Given the description of an element on the screen output the (x, y) to click on. 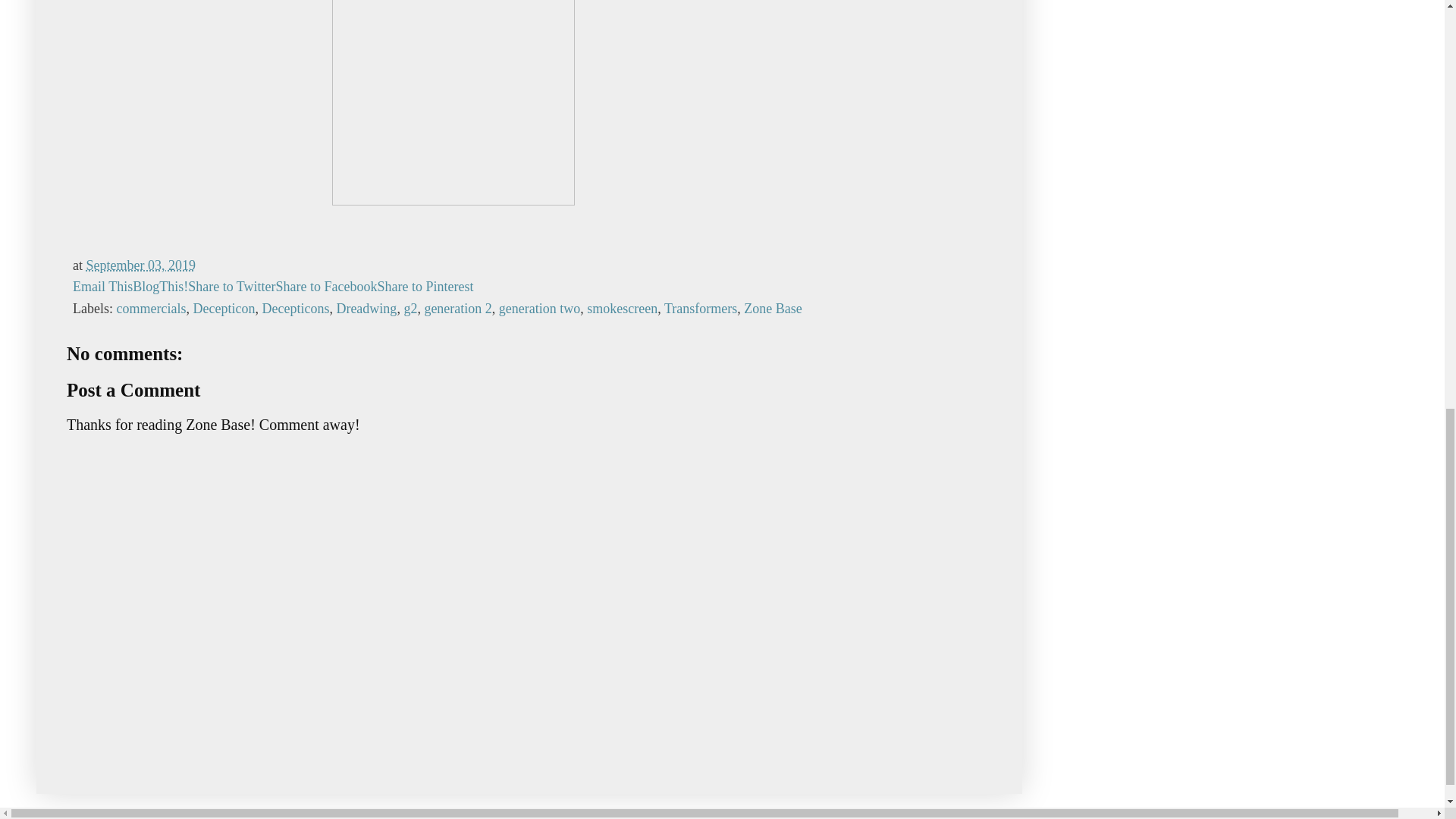
generation two (539, 308)
Zone Base (773, 308)
Transformers (699, 308)
g2 (409, 308)
generation 2 (457, 308)
Email This (102, 286)
Email This (102, 286)
Dreadwing (366, 308)
Share to Twitter (231, 286)
permanent link (140, 264)
smokescreen (622, 308)
September 03, 2019 (140, 264)
commercials (151, 308)
Share to Twitter (231, 286)
Share to Facebook (326, 286)
